Given the description of an element on the screen output the (x, y) to click on. 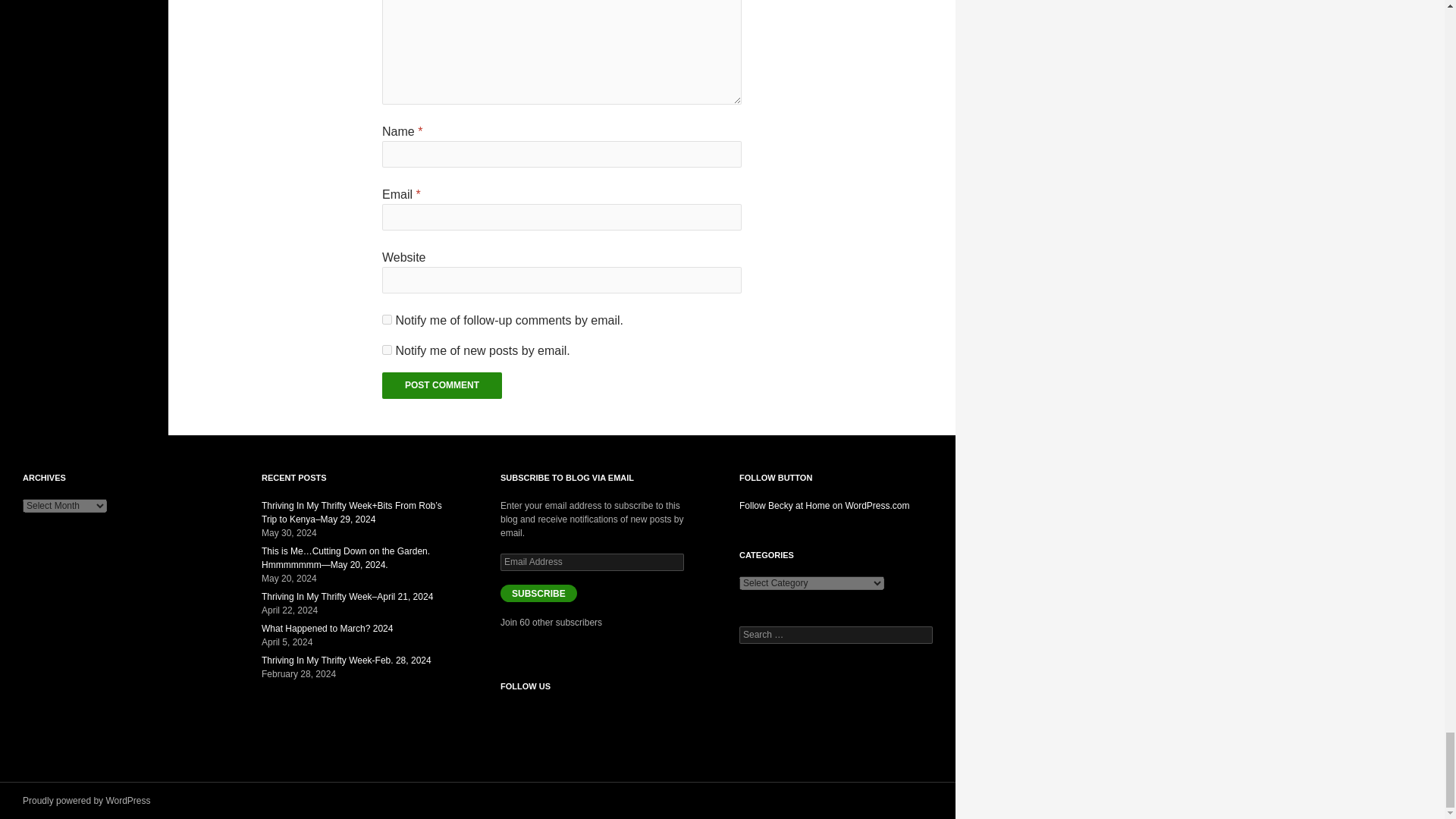
subscribe (386, 319)
Post Comment (441, 385)
subscribe (386, 349)
